Given the description of an element on the screen output the (x, y) to click on. 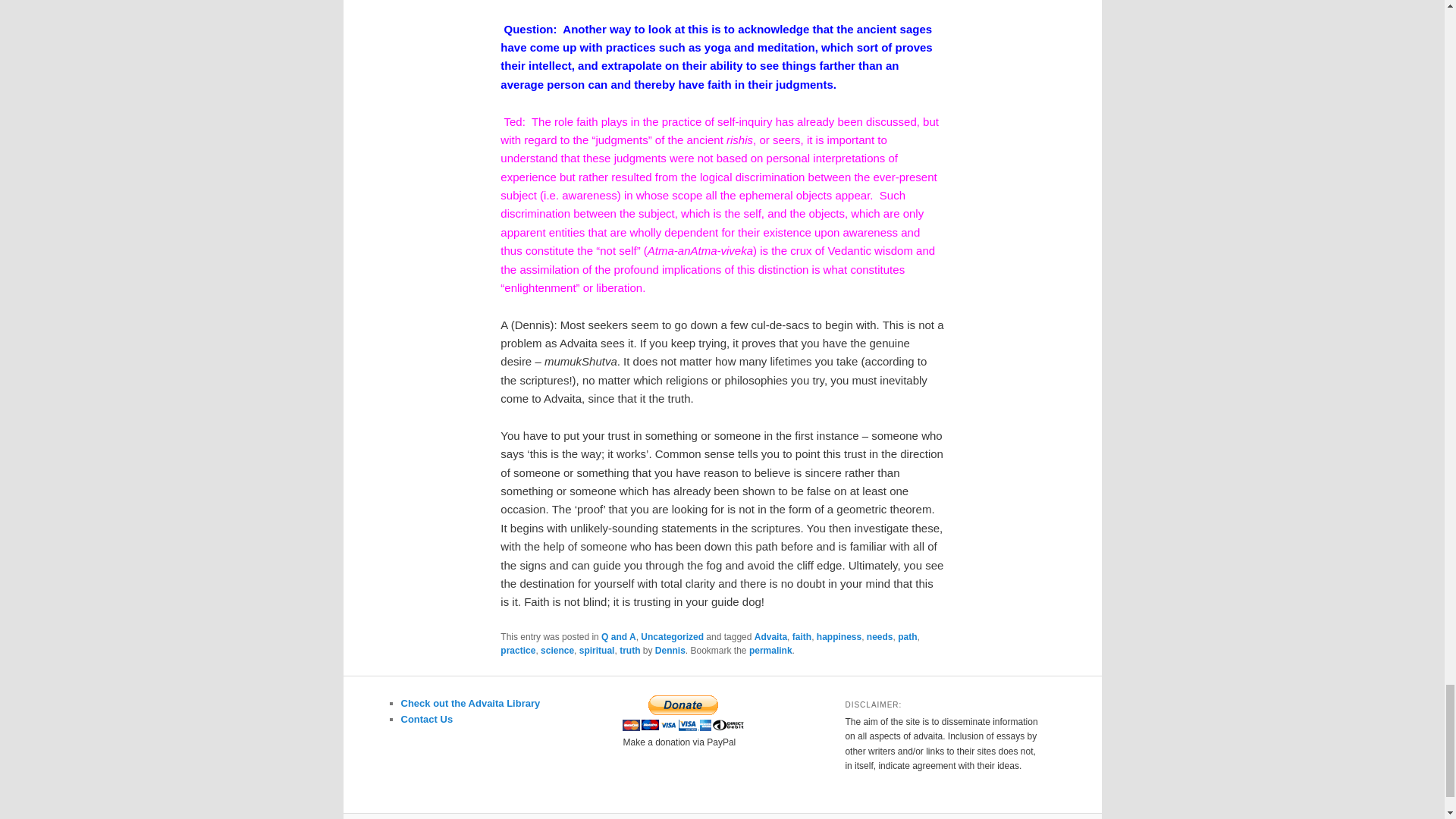
Provide suggestions, report problems etc (426, 718)
